Given the description of an element on the screen output the (x, y) to click on. 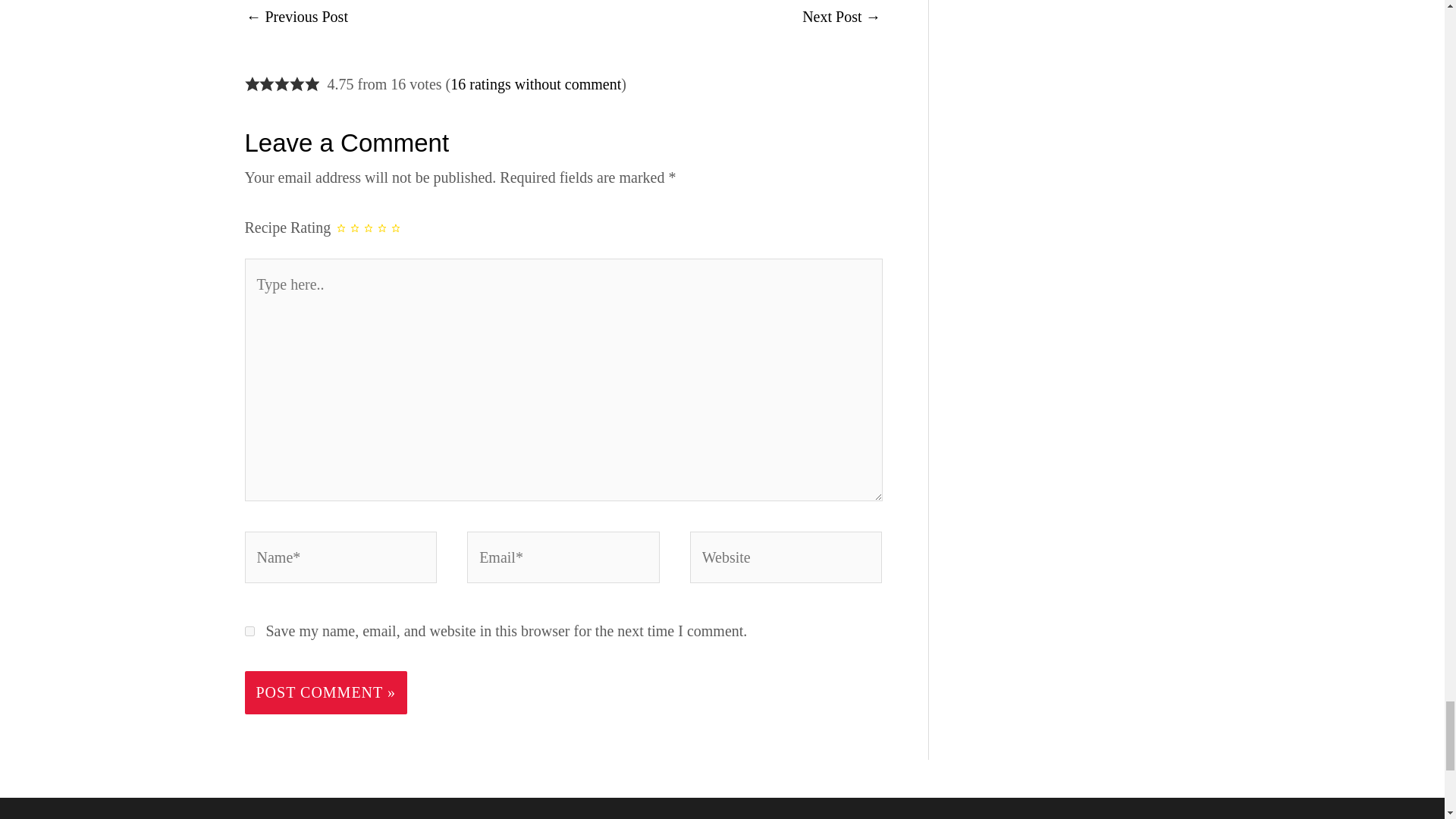
yes (248, 631)
How To Make Popeyes Cajun French Fries At Home (841, 18)
